Given the description of an element on the screen output the (x, y) to click on. 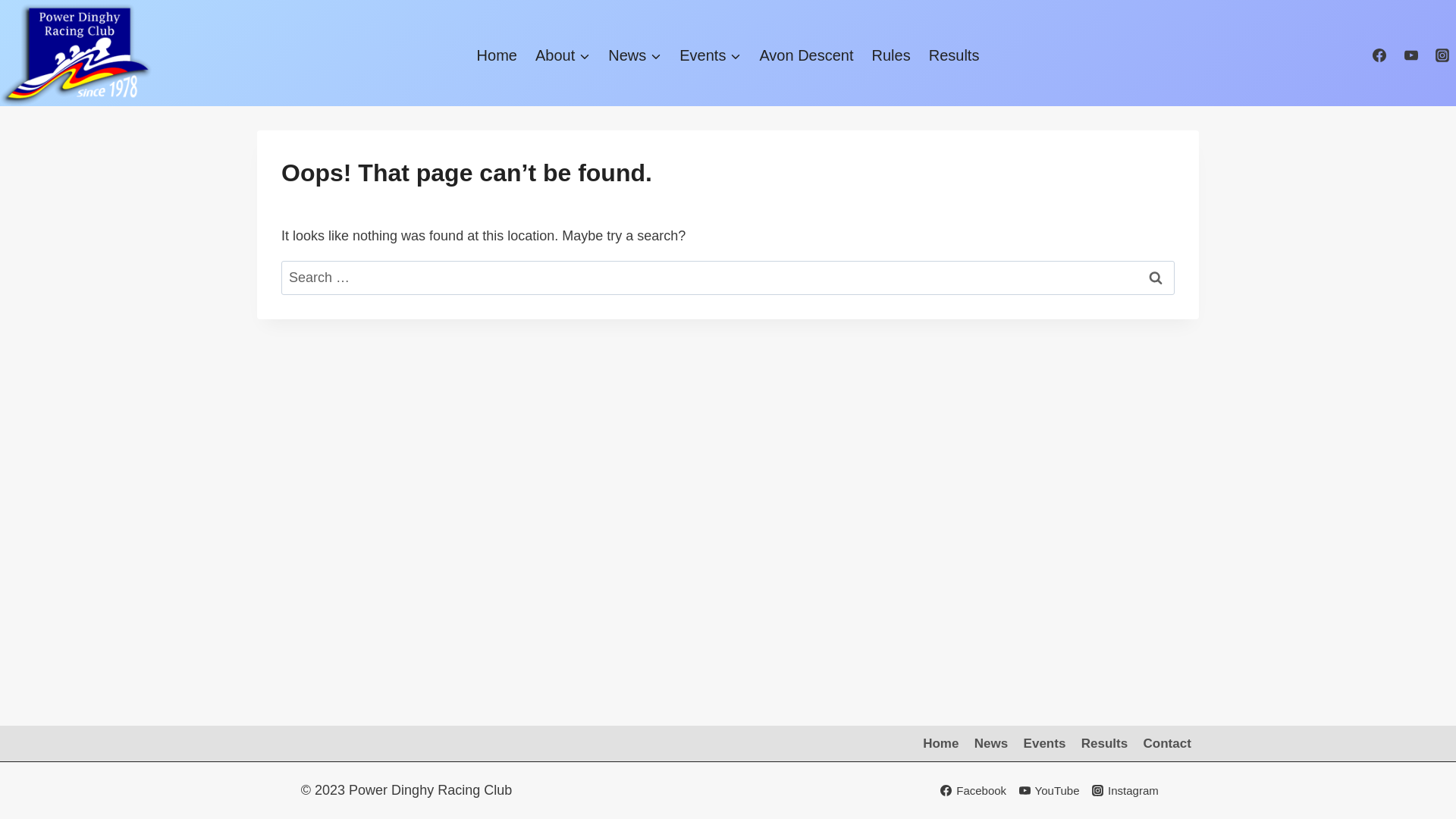
Home Element type: text (940, 743)
News Element type: text (634, 54)
Avon Descent Element type: text (805, 54)
Home Element type: text (496, 54)
About Element type: text (562, 54)
YouTube Element type: text (1049, 790)
Events Element type: text (709, 54)
Events Element type: text (1044, 743)
Instagram Element type: text (1125, 790)
Facebook Element type: text (972, 790)
Rules Element type: text (890, 54)
Results Element type: text (953, 54)
Contact Element type: text (1166, 743)
Search Element type: text (1155, 277)
News Element type: text (991, 743)
Results Element type: text (1104, 743)
